Given the description of an element on the screen output the (x, y) to click on. 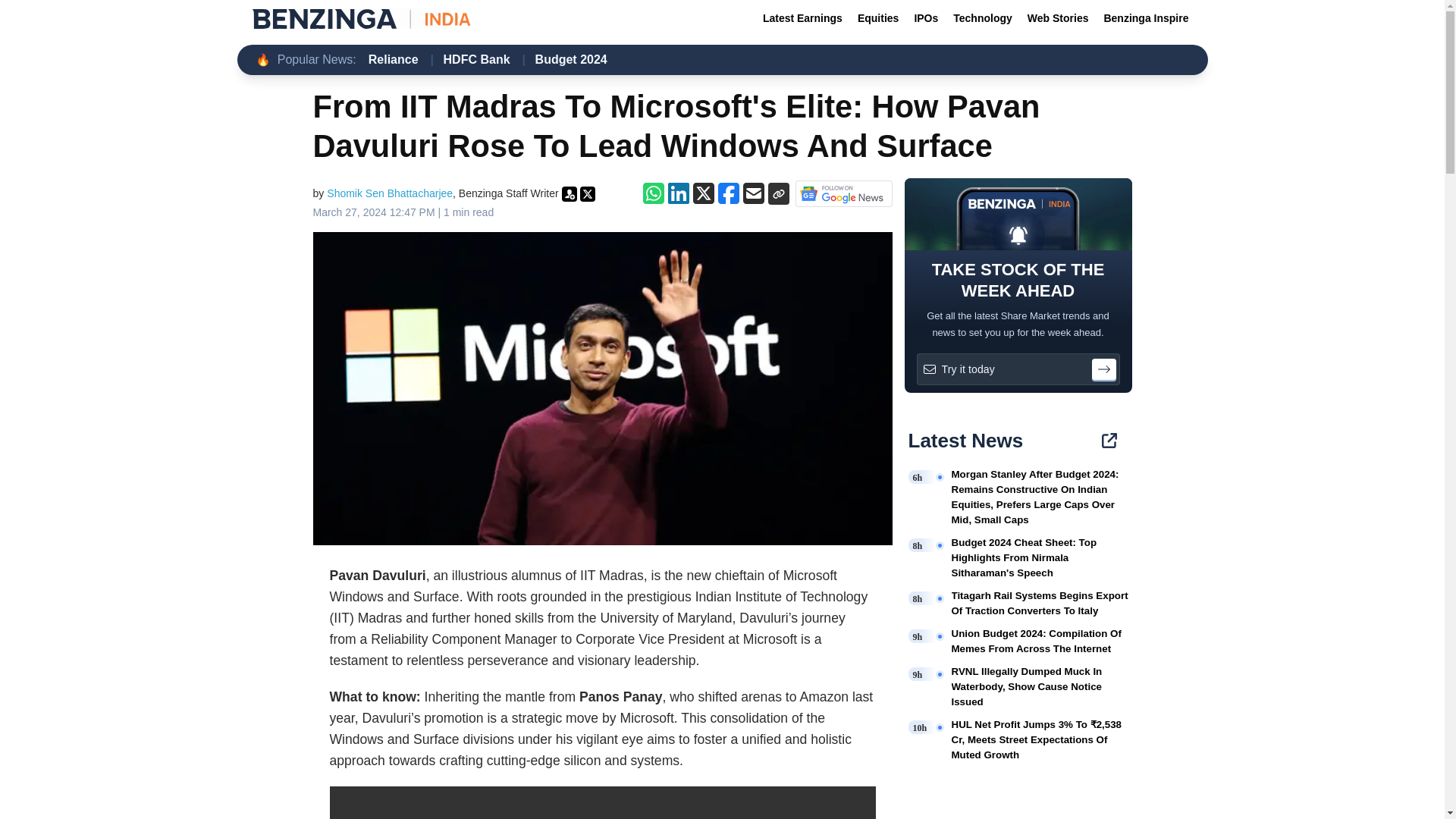
Benzinga Inspire (1145, 18)
Web Stories (1058, 18)
IPOs (924, 18)
Technology (982, 18)
Benzinga Inspire (1145, 18)
Equities (877, 18)
Latest Earnings (802, 18)
Equities (877, 18)
Web Stories (1058, 18)
IPOs (924, 18)
Budget 2024 (571, 59)
Technology (982, 18)
Budget 2024 (571, 59)
Latest Earnings (802, 18)
